Given the description of an element on the screen output the (x, y) to click on. 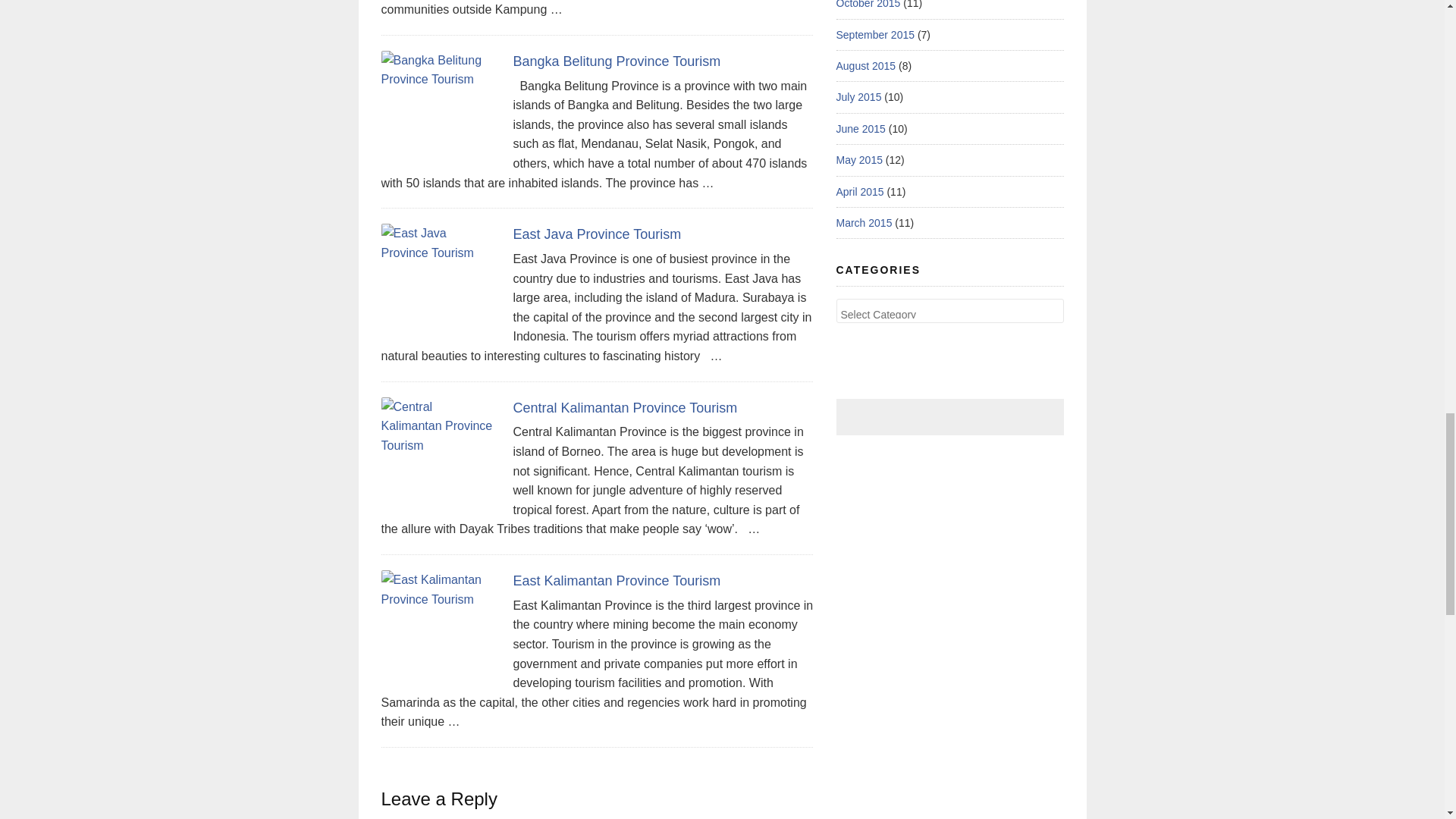
East Kalimantan Province Tourism (616, 580)
Bangka Belitung Province Tourism (616, 61)
Central Kalimantan Province Tourism (624, 407)
East Java Province Tourism (596, 233)
